Given the description of an element on the screen output the (x, y) to click on. 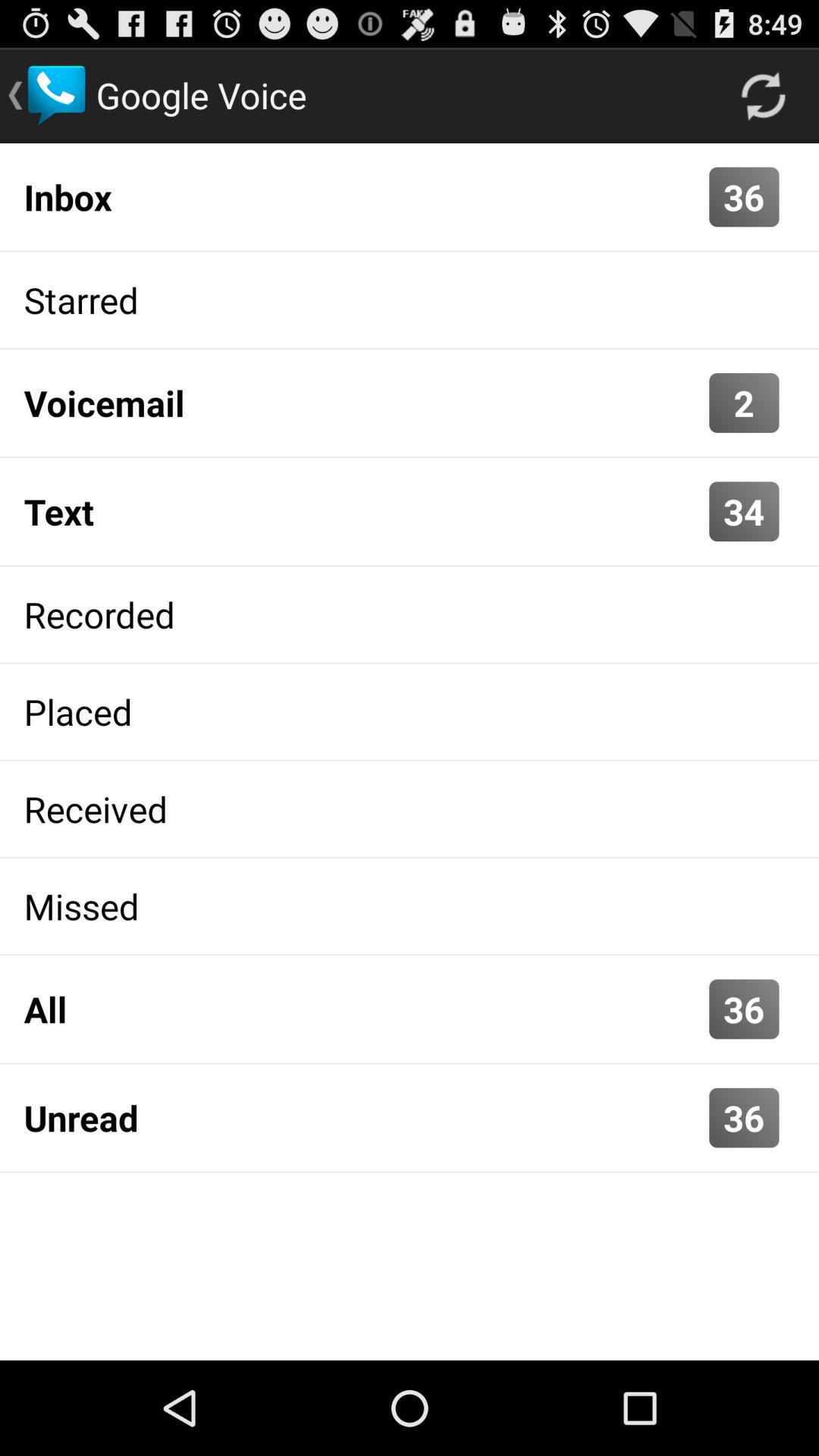
turn off the item above the missed icon (409, 808)
